Given the description of an element on the screen output the (x, y) to click on. 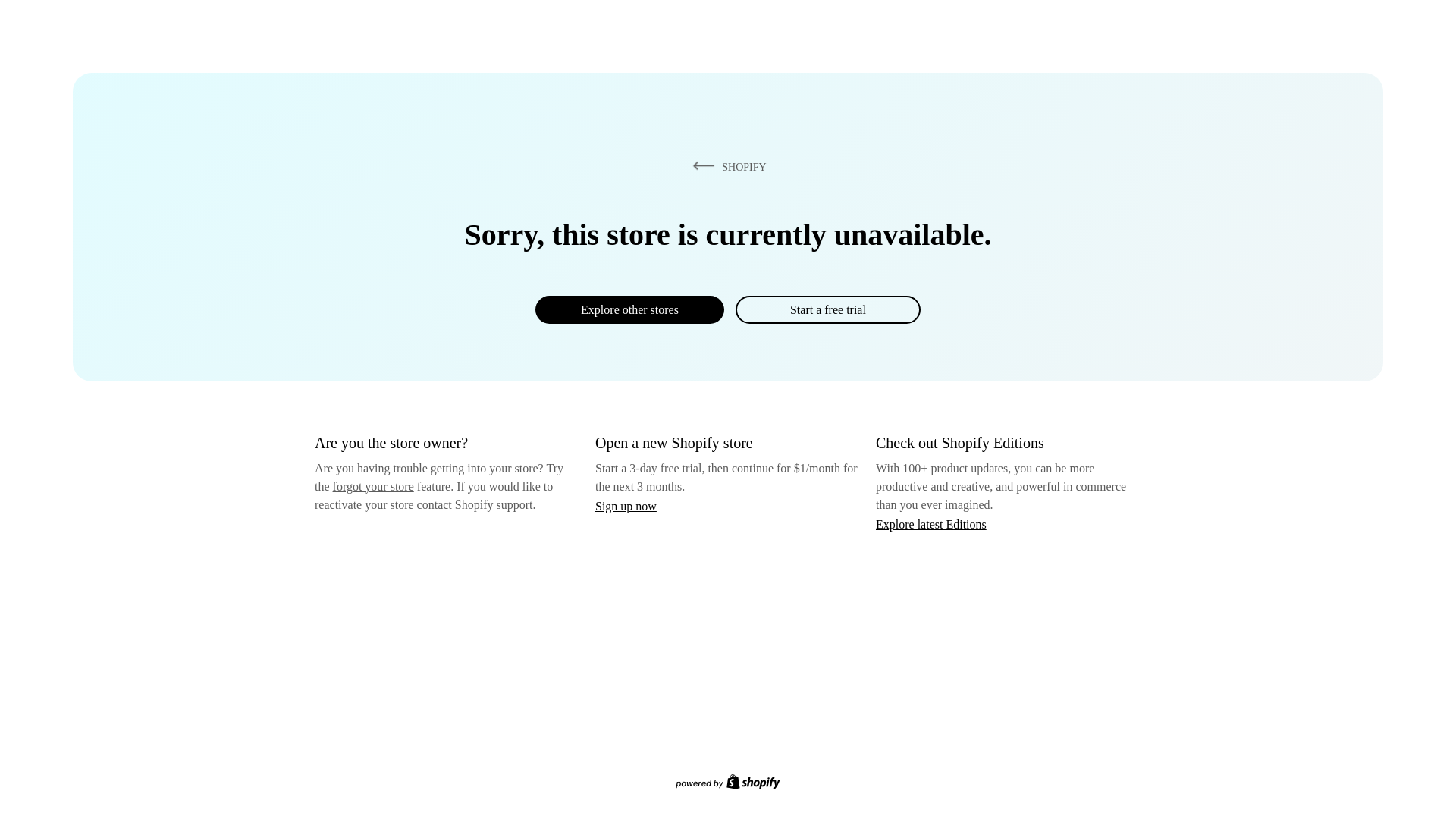
SHOPIFY (726, 166)
Start a free trial (827, 309)
Shopify support (493, 504)
Sign up now (625, 505)
Explore other stores (629, 309)
forgot your store (373, 486)
Explore latest Editions (931, 523)
